Given the description of an element on the screen output the (x, y) to click on. 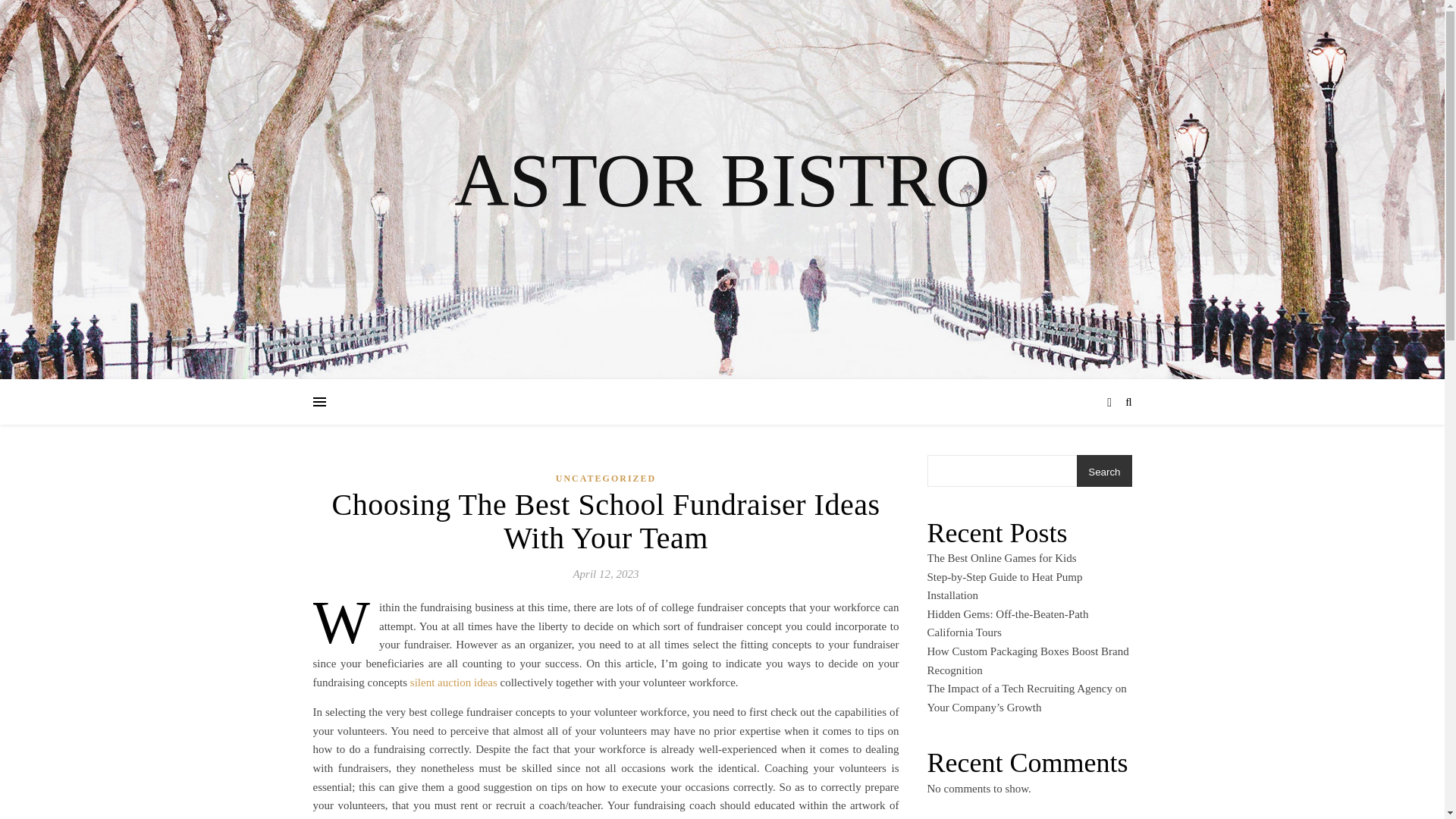
How Custom Packaging Boxes Boost Brand Recognition (1027, 660)
Hidden Gems: Off-the-Beaten-Path California Tours (1006, 623)
Search (1104, 471)
UNCATEGORIZED (606, 478)
Step-by-Step Guide to Heat Pump Installation (1003, 585)
silent auction ideas (453, 682)
The Best Online Games for Kids (1000, 558)
